Given the description of an element on the screen output the (x, y) to click on. 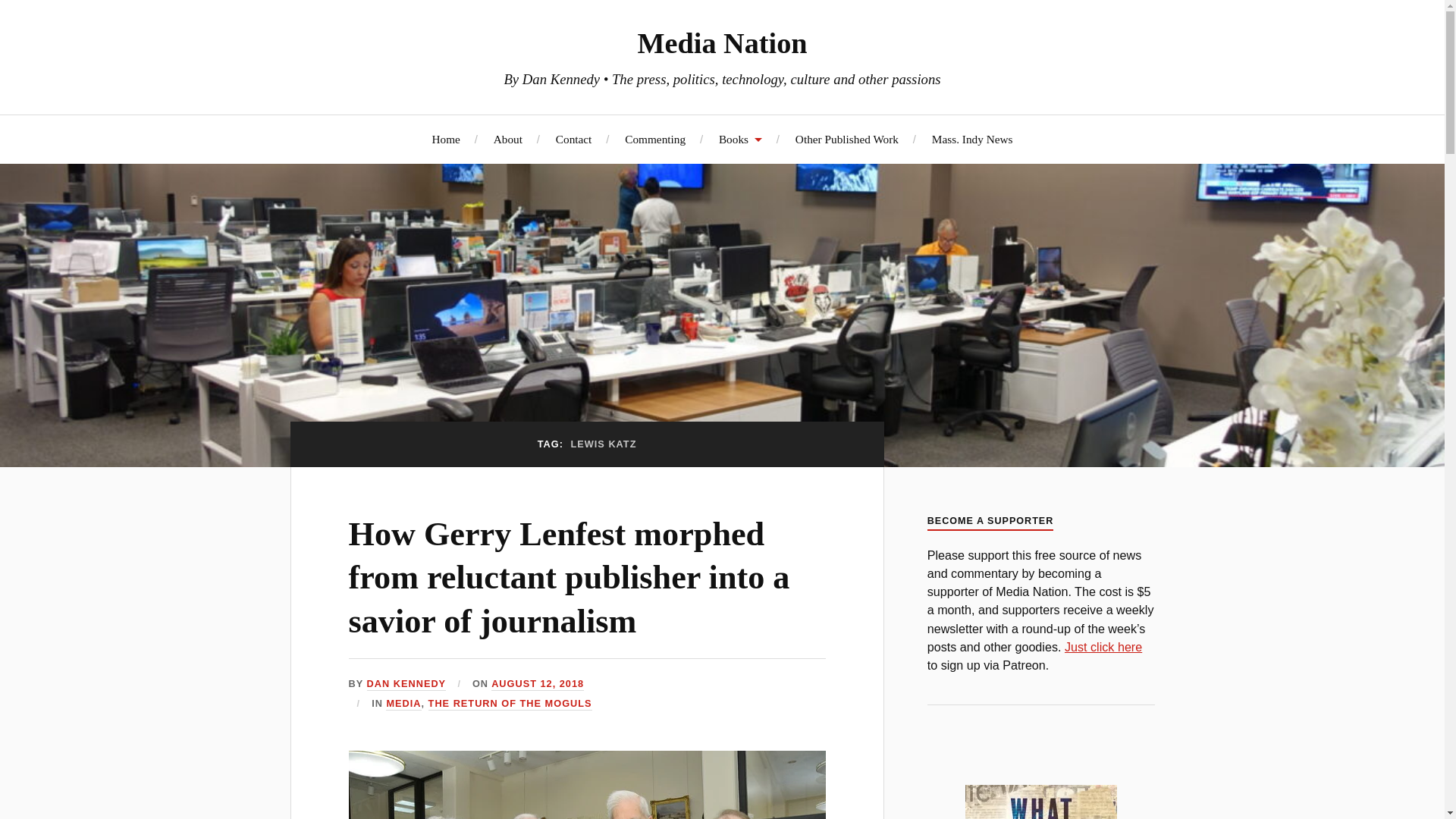
Commenting (654, 138)
Media Nation (721, 42)
Posts by Dan Kennedy (406, 684)
Mass. Indy News (972, 138)
MEDIA (402, 703)
AUGUST 12, 2018 (537, 684)
Other Published Work (846, 138)
DAN KENNEDY (406, 684)
THE RETURN OF THE MOGULS (510, 703)
Books (740, 138)
